Given the description of an element on the screen output the (x, y) to click on. 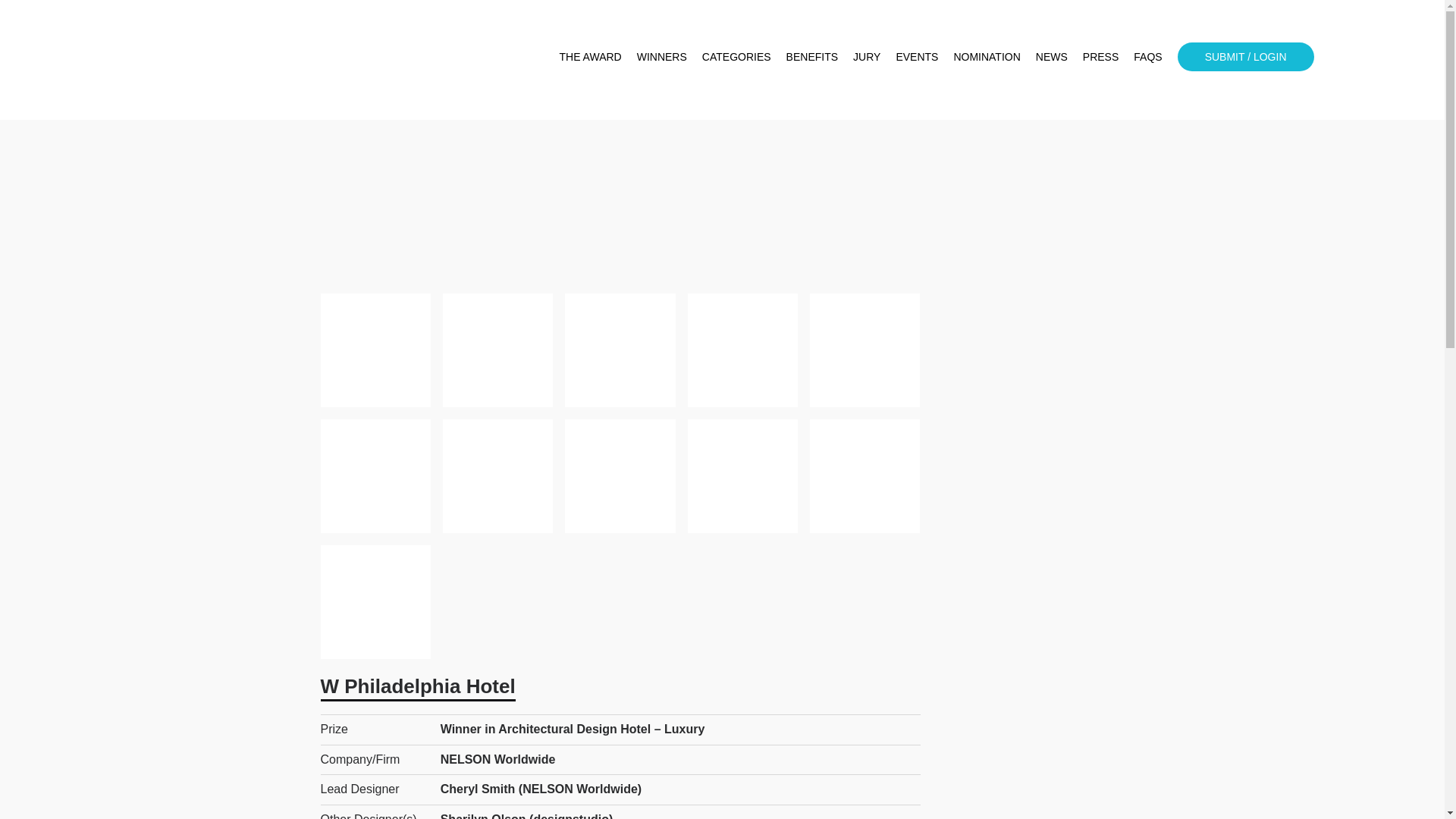
NEWS (1051, 56)
BENEFITS (812, 56)
EVENTS (916, 56)
JURY (866, 56)
FAQS (1147, 56)
PRESS (1100, 56)
WINNERS (662, 56)
LIV Hospitality Design Awards (206, 60)
CATEGORIES (736, 56)
NOMINATION (986, 56)
